Given the description of an element on the screen output the (x, y) to click on. 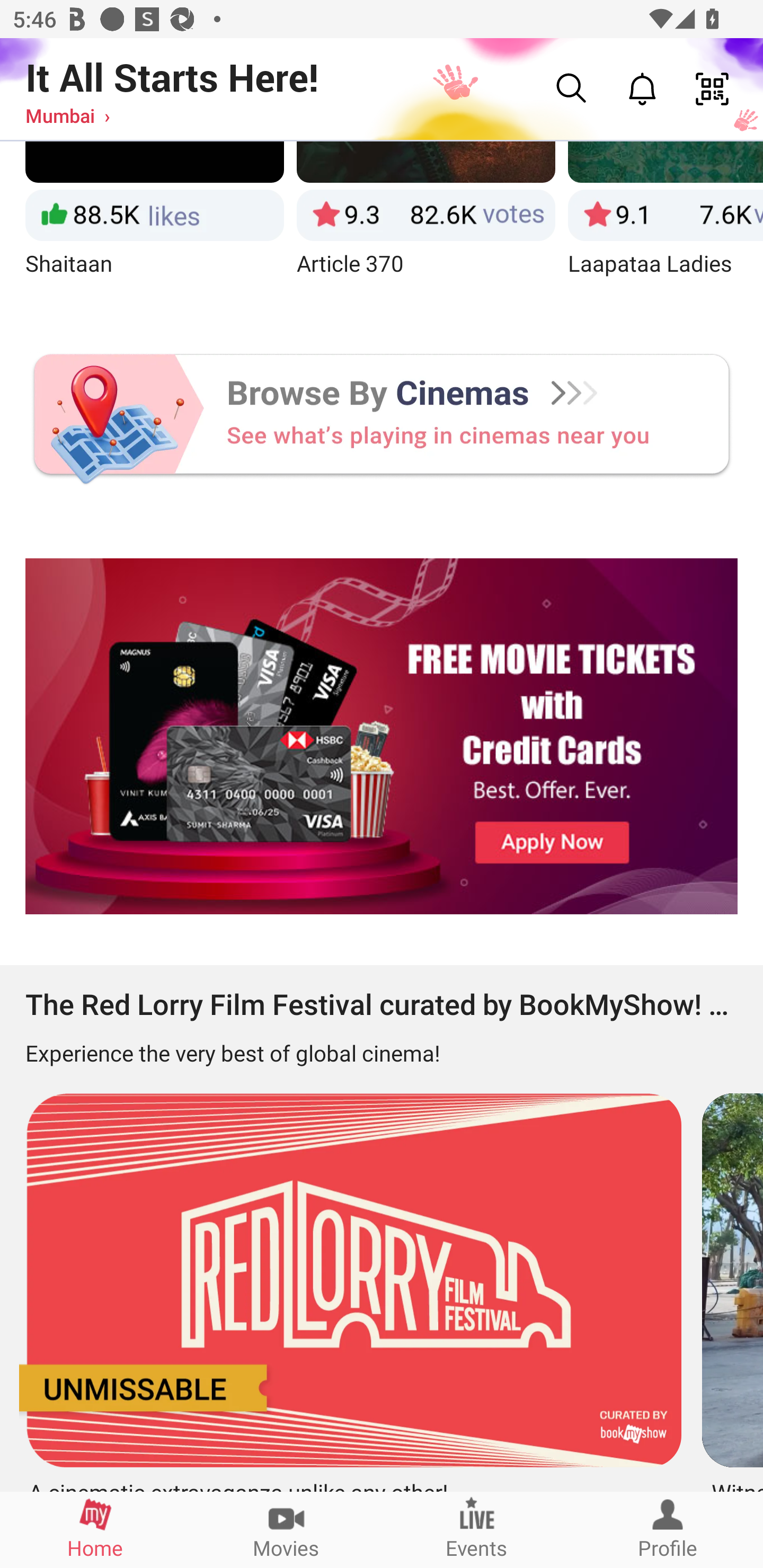
Mumbai  › (67, 114)
Shaitaan (154, 225)
Article 370 (425, 225)
Laapataa Ladies (665, 225)
A cinematic extravaganza unlike any other! (347, 1285)
Home (95, 1529)
Movies (285, 1529)
Events (476, 1529)
Profile (667, 1529)
